Given the description of an element on the screen output the (x, y) to click on. 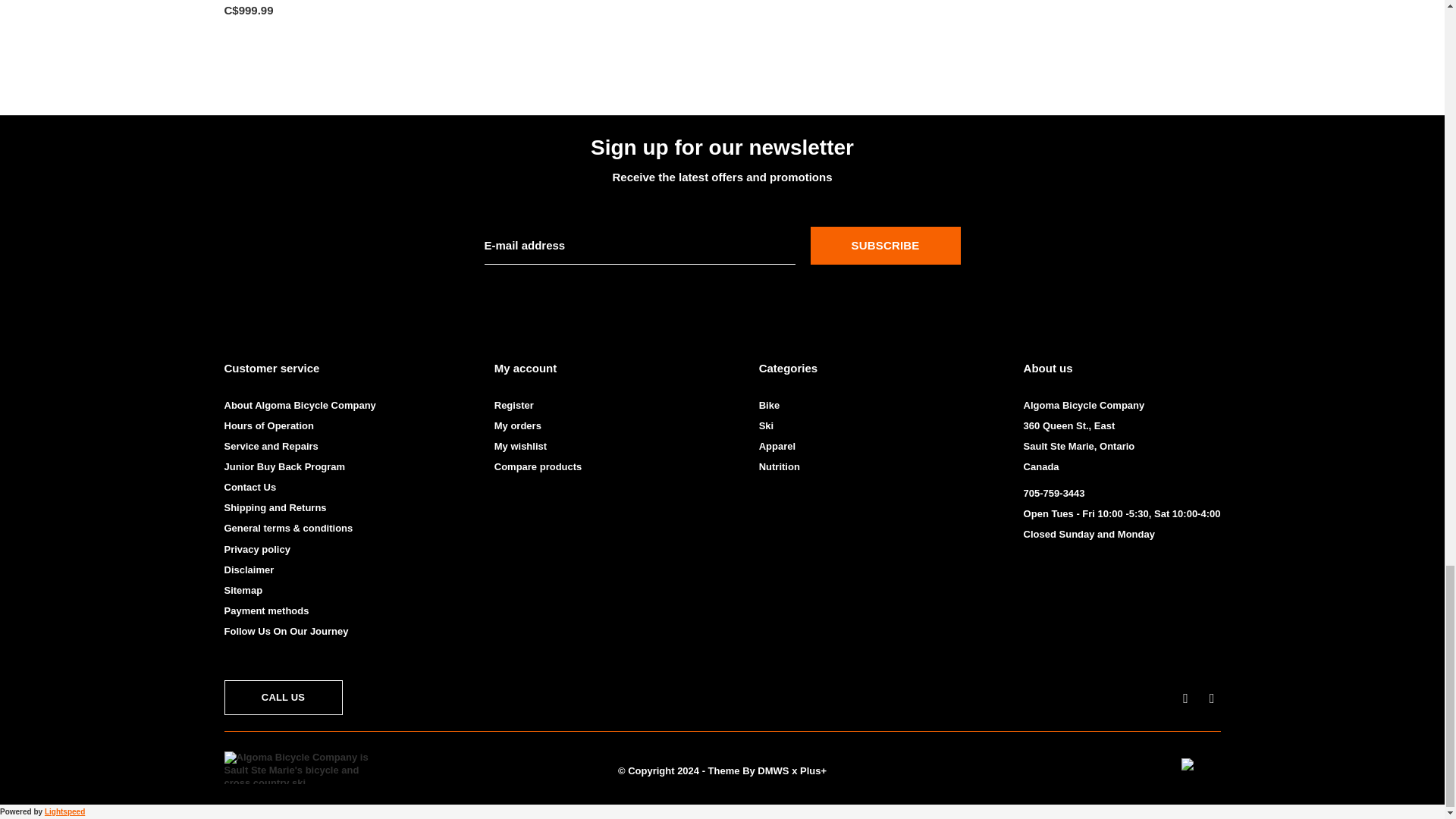
My orders (518, 425)
My wishlist (521, 446)
Lightspeed (64, 811)
Register (514, 405)
